Given the description of an element on the screen output the (x, y) to click on. 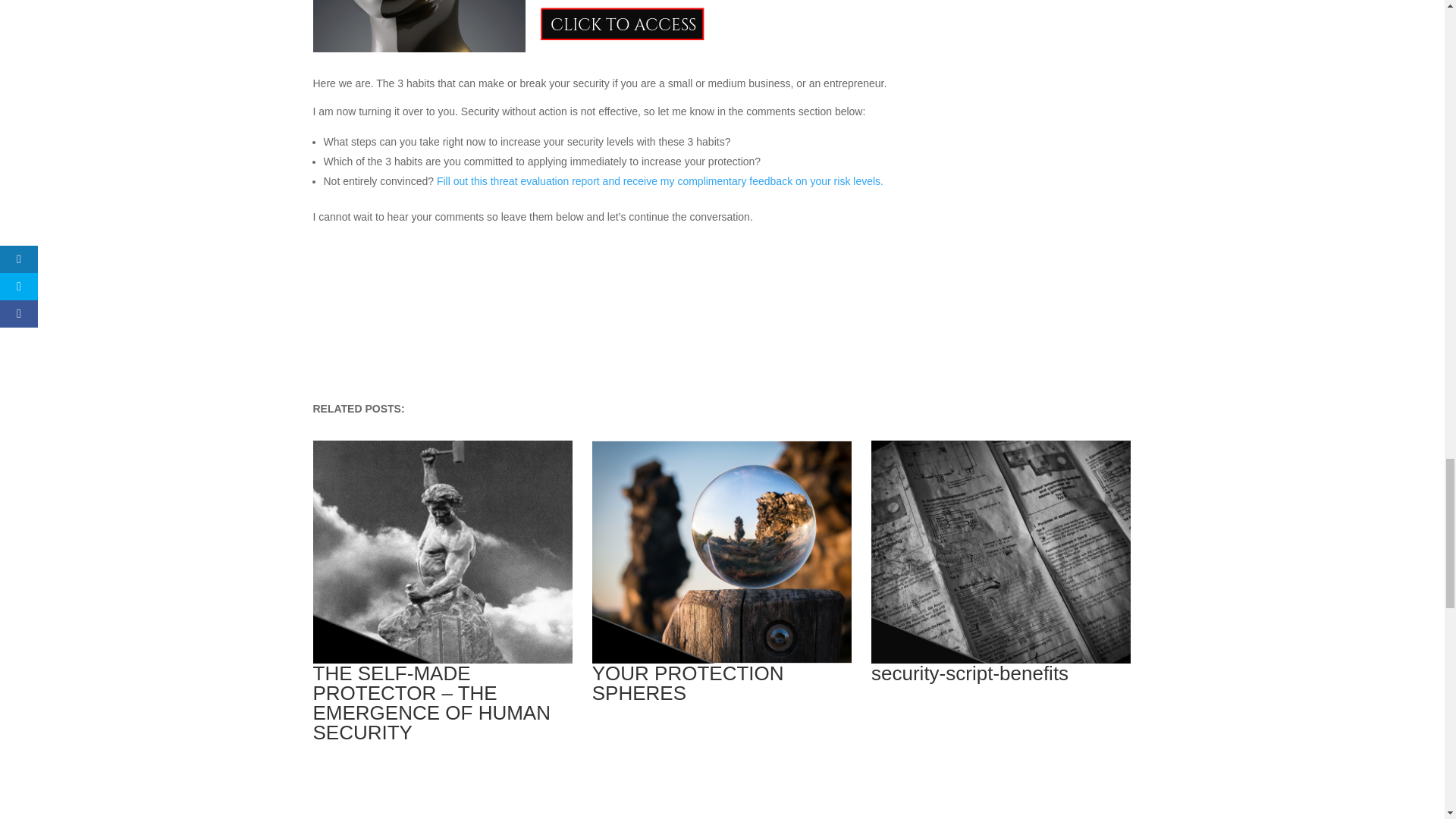
YOUR PROTECTION SPHERES (721, 681)
security-script-benefits (1000, 672)
